Given the description of an element on the screen output the (x, y) to click on. 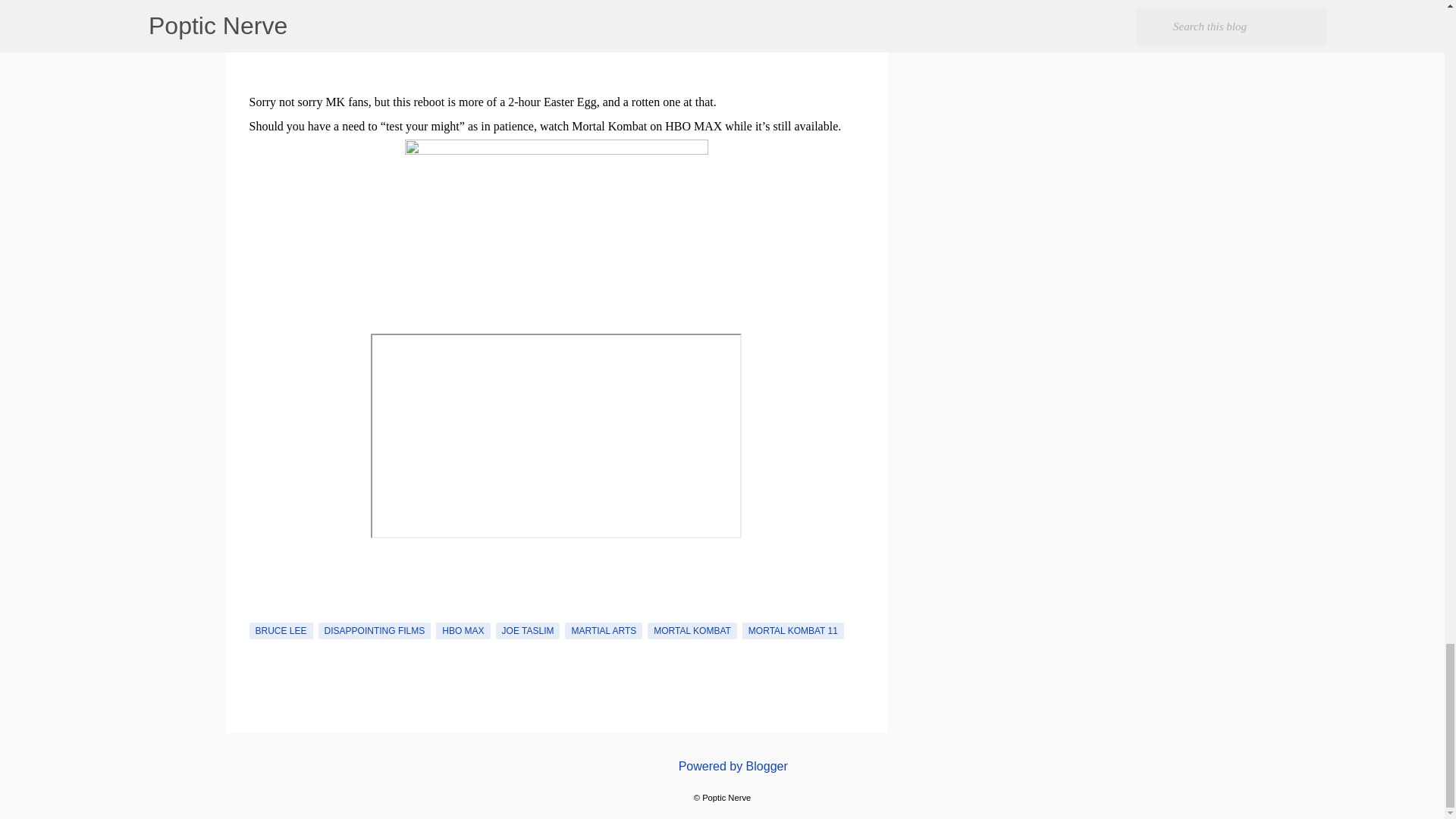
MORTAL KOMBAT 11 (793, 630)
Powered by Blogger (721, 766)
BRUCE LEE (280, 630)
JOE TASLIM (528, 630)
DISAPPOINTING FILMS (374, 630)
MORTAL KOMBAT (691, 630)
HBO MAX (462, 630)
MARTIAL ARTS (603, 630)
